Given the description of an element on the screen output the (x, y) to click on. 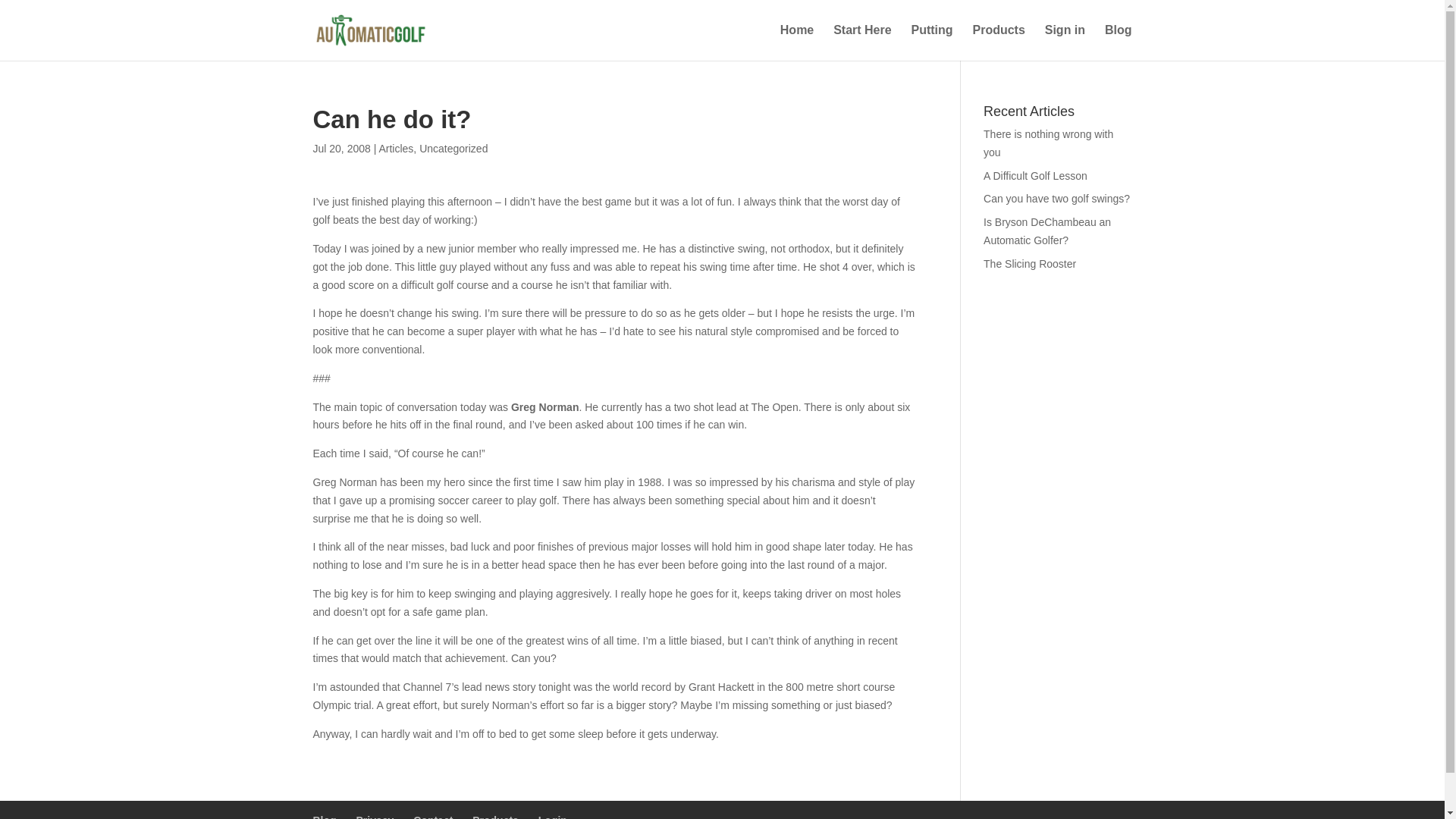
Products (494, 816)
Start Here (861, 42)
Privacy (375, 816)
Products (998, 42)
Can you have two golf swings? (1056, 198)
Home (796, 42)
Sign in (1064, 42)
Putting (932, 42)
Contact (432, 816)
The Slicing Rooster (1029, 263)
